Given the description of an element on the screen output the (x, y) to click on. 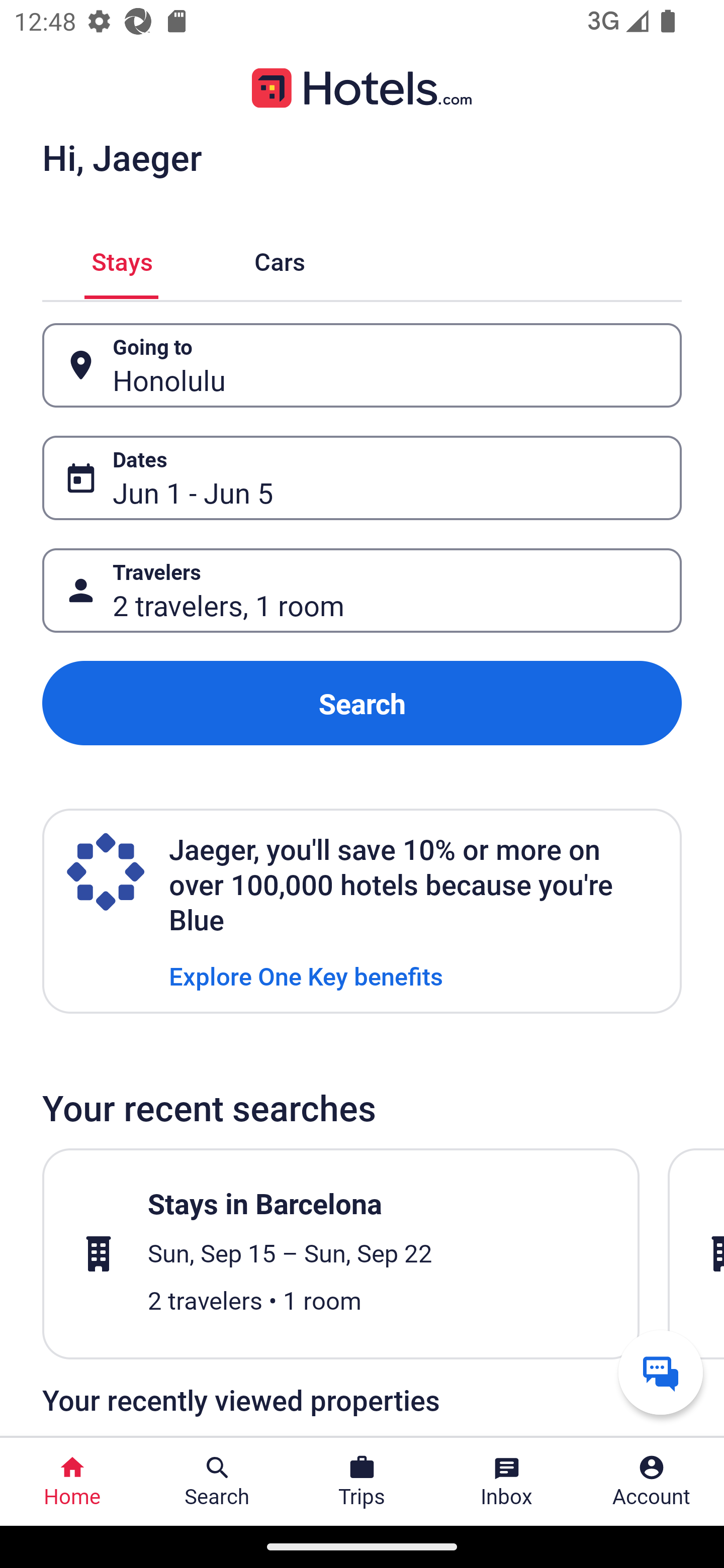
Hi, Jaeger (121, 156)
Cars (279, 259)
Going to Button Honolulu (361, 365)
Dates Button Jun 1 - Jun 5 (361, 477)
Travelers Button 2 travelers, 1 room (361, 590)
Search (361, 702)
Get help from a virtual agent (660, 1371)
Search Search Button (216, 1481)
Trips Trips Button (361, 1481)
Inbox Inbox Button (506, 1481)
Account Profile. Button (651, 1481)
